Given the description of an element on the screen output the (x, y) to click on. 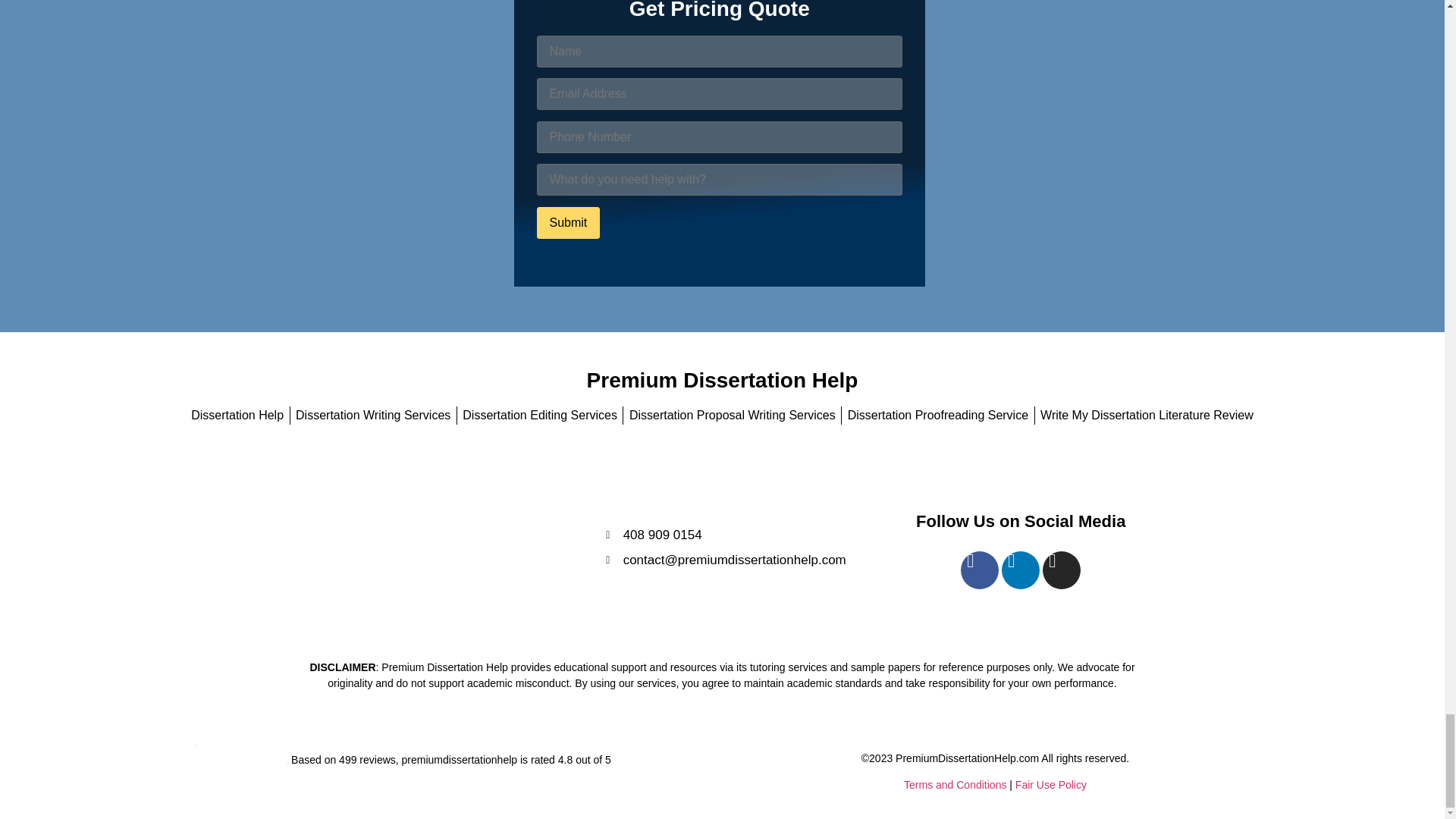
182 High St N, London E6 2JA, United Kingdom (428, 545)
Submit (568, 222)
